Given the description of an element on the screen output the (x, y) to click on. 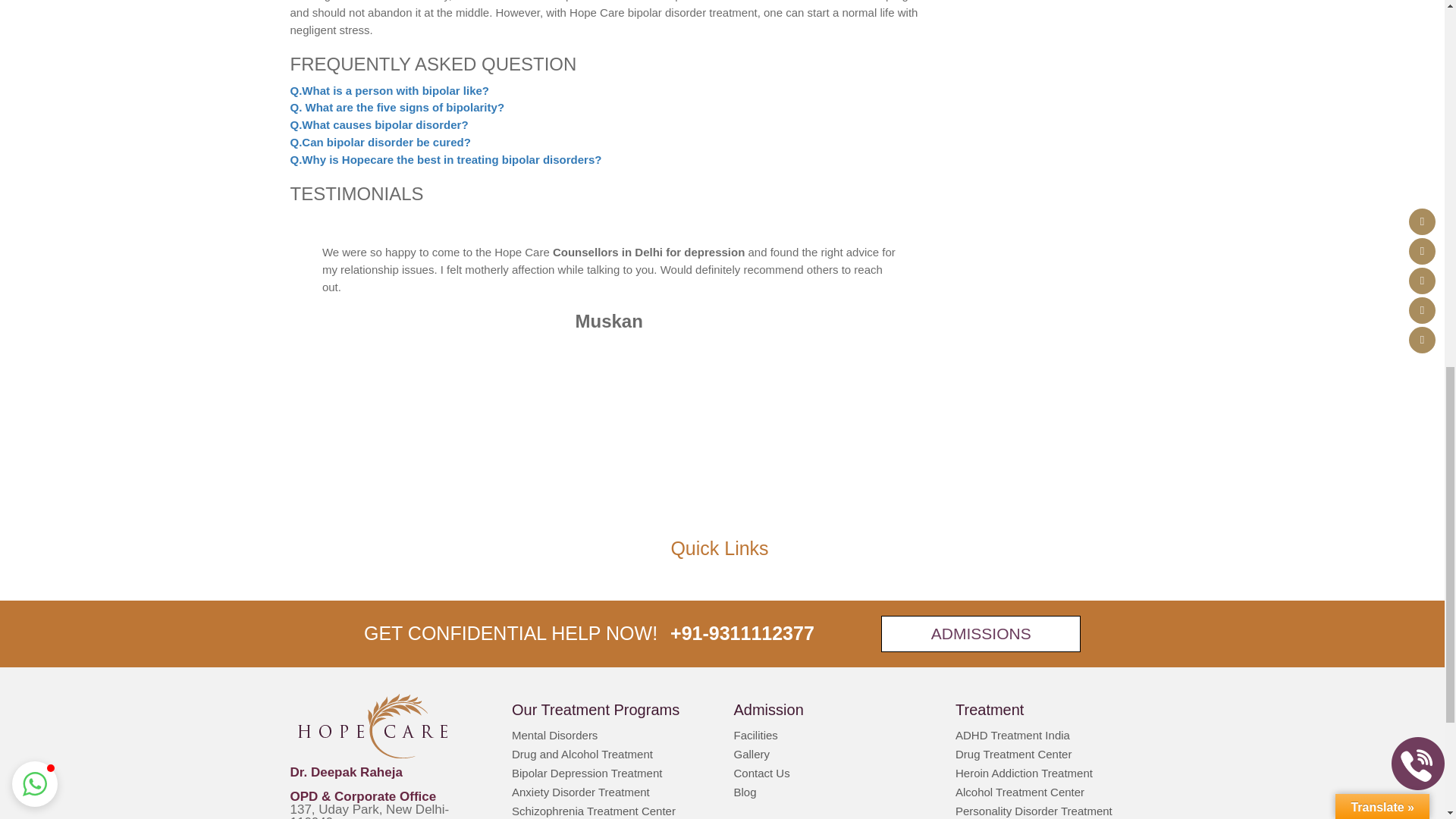
Q.What is a person with bipolar like? (389, 90)
Q.Why is Hopecare the best in treating bipolar disorders? (445, 159)
Q.Can bipolar disorder be cured? (379, 141)
Q. What are the five signs of bipolarity? (396, 106)
Q.What causes bipolar disorder? (378, 124)
